Given the description of an element on the screen output the (x, y) to click on. 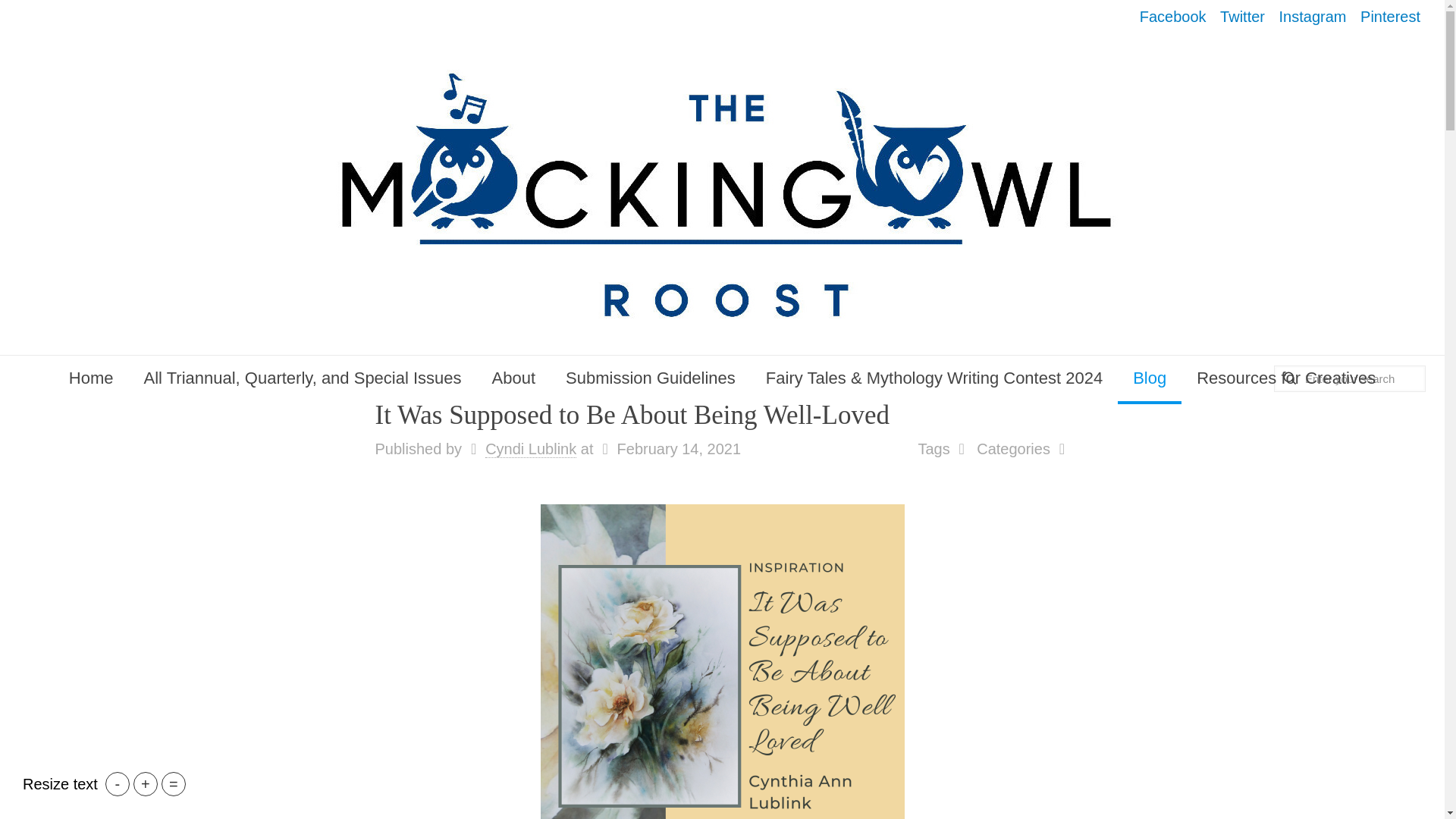
Blog (1149, 378)
Twitter (1242, 16)
About (514, 378)
Pinterest (1390, 16)
Instagram (1312, 16)
Reset text size (173, 784)
Increase text size (145, 784)
Decrease text size (116, 784)
All Triannual, Quarterly, and Special Issues (303, 378)
Submission Guidelines (650, 378)
Home (91, 378)
Facebook (1173, 16)
